Given the description of an element on the screen output the (x, y) to click on. 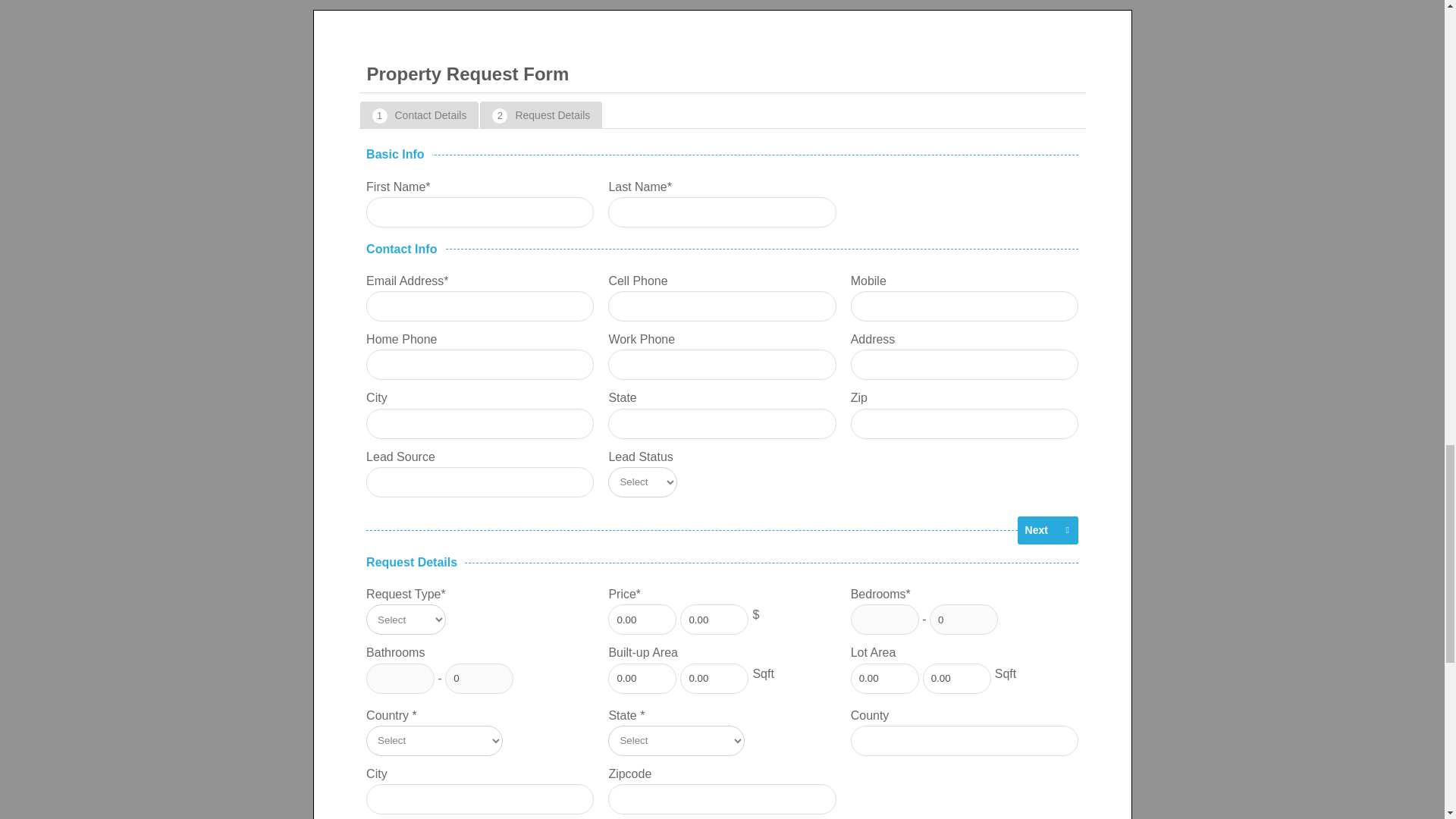
0.00 (713, 678)
0 (963, 619)
0.00 (713, 619)
0.00 (642, 678)
0 (479, 678)
0.00 (642, 619)
